Given the description of an element on the screen output the (x, y) to click on. 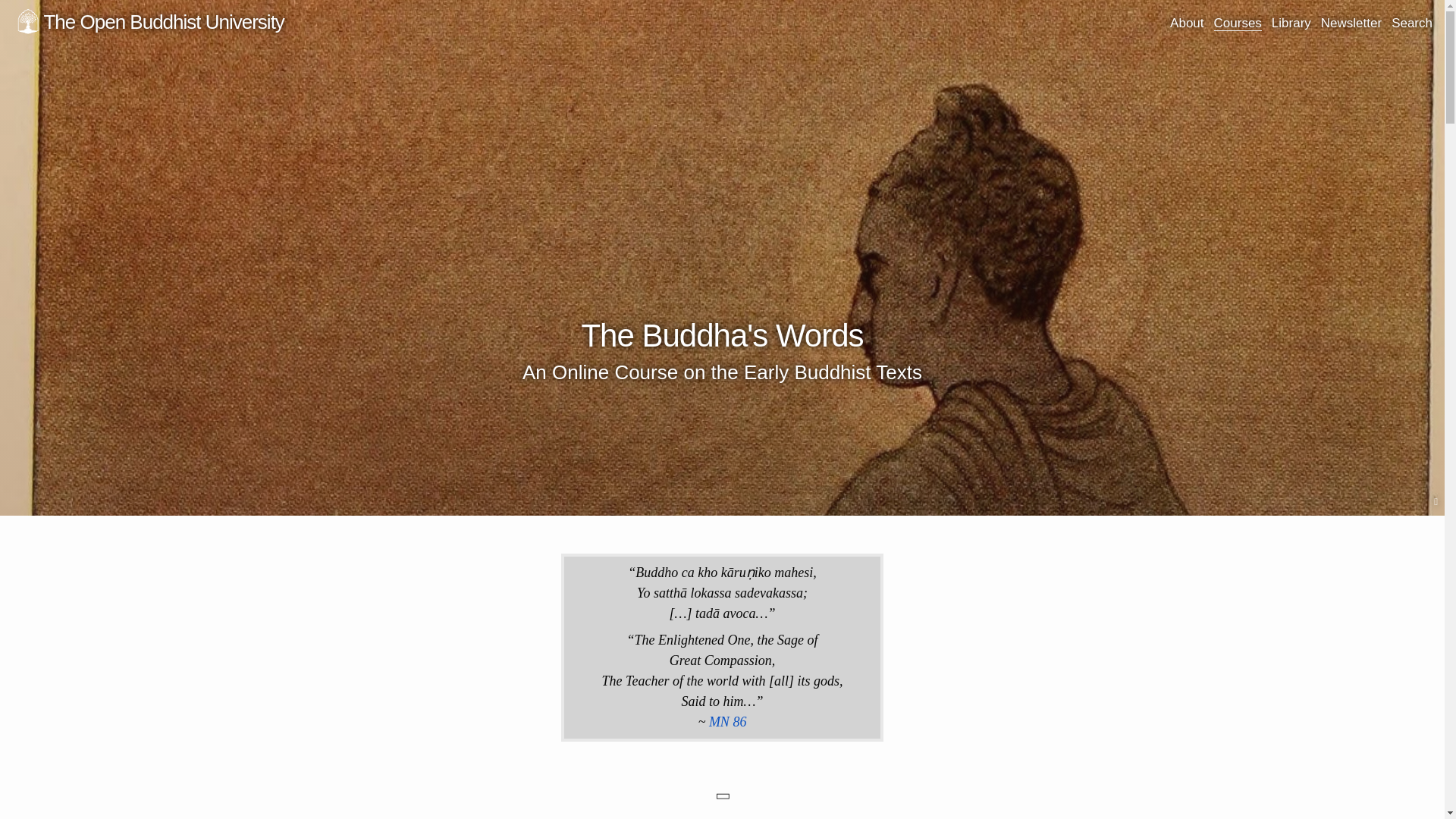
About (1187, 22)
Courses (1238, 23)
Newsletter (1350, 22)
MN 86 (727, 721)
Library (1291, 22)
The Open Buddhist University (147, 20)
Search (1411, 22)
